Given the description of an element on the screen output the (x, y) to click on. 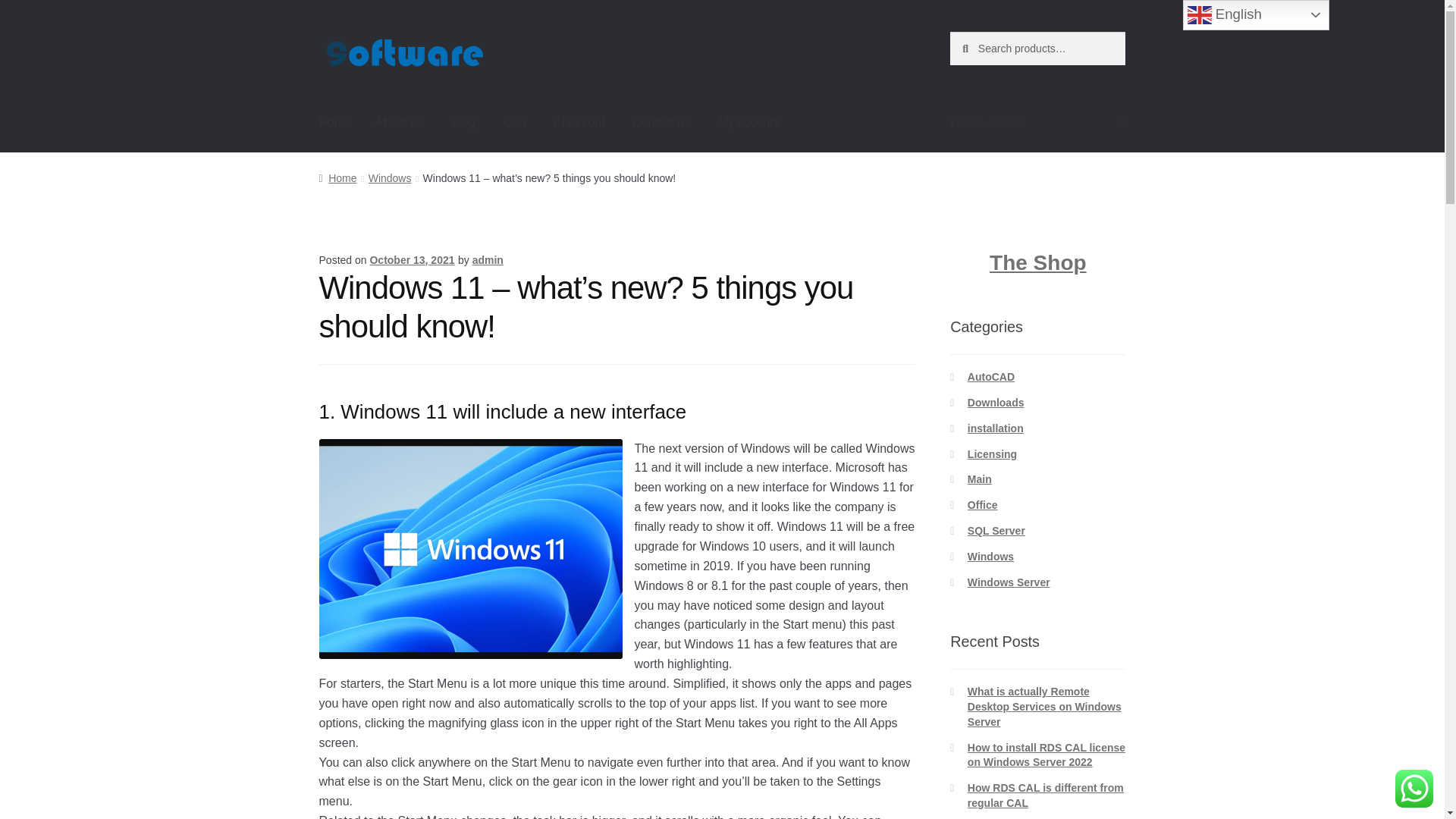
Home (335, 122)
Downloads (996, 402)
October 13, 2021 (411, 259)
View your shopping cart (1037, 122)
SQL Server (996, 530)
Windows (390, 177)
Contact us (660, 122)
admin (487, 259)
installation (995, 428)
My account (749, 122)
AutoCAD (991, 377)
Windows Server (1008, 582)
Windows (990, 556)
